Given the description of an element on the screen output the (x, y) to click on. 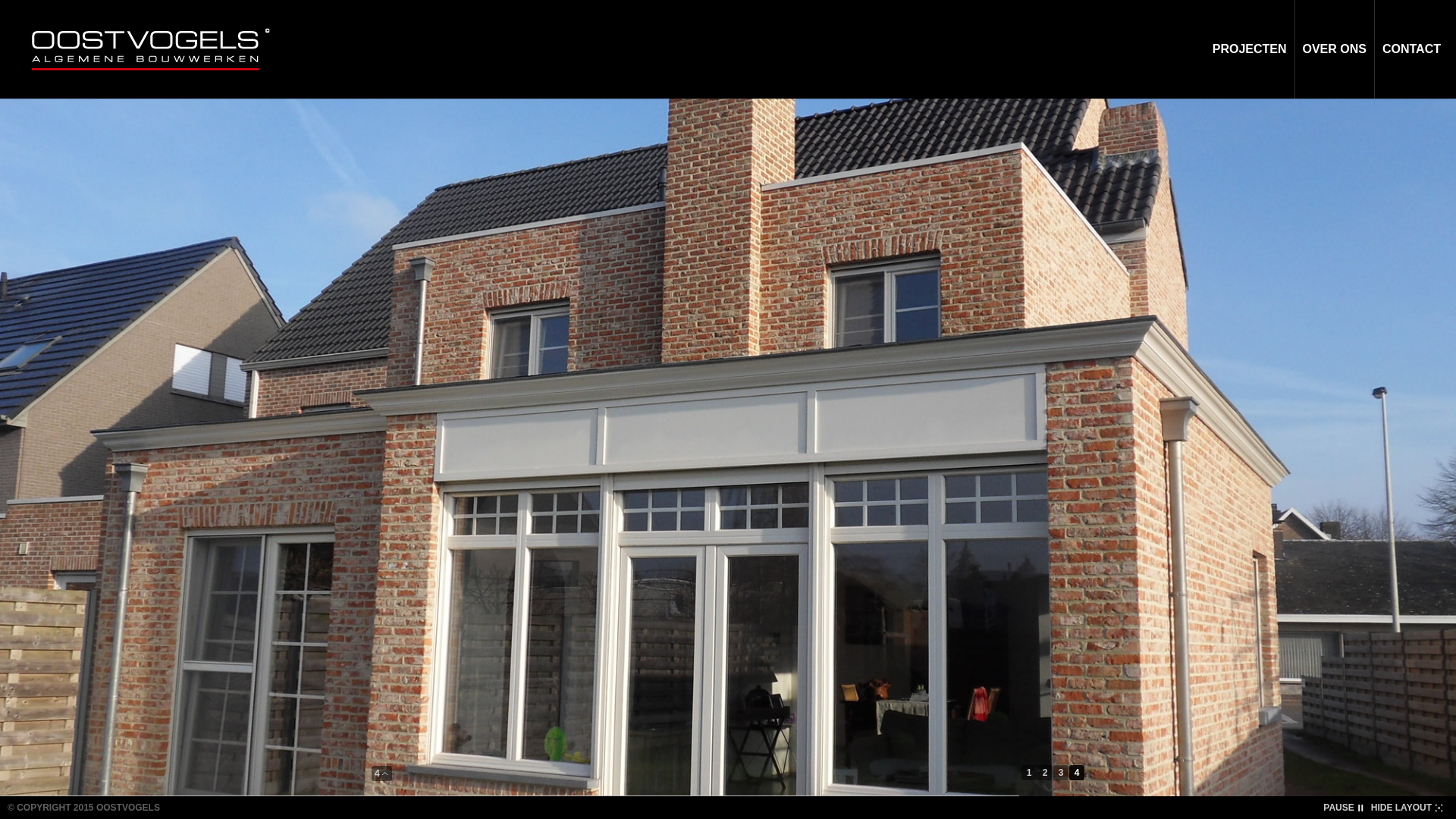
PROJECTEN Element type: text (1249, 49)
1 Element type: text (1029, 772)
3 Element type: text (1060, 772)
Skip to primary content Element type: text (356, 8)
4 Element type: text (1076, 772)
OVER ONS Element type: text (1334, 49)
CONTACT Element type: text (1411, 49)
Bouwwerken Oostvogels Element type: hover (147, 49)
Skip to secondary content Element type: text (364, 8)
2 Element type: text (1045, 772)
